Given the description of an element on the screen output the (x, y) to click on. 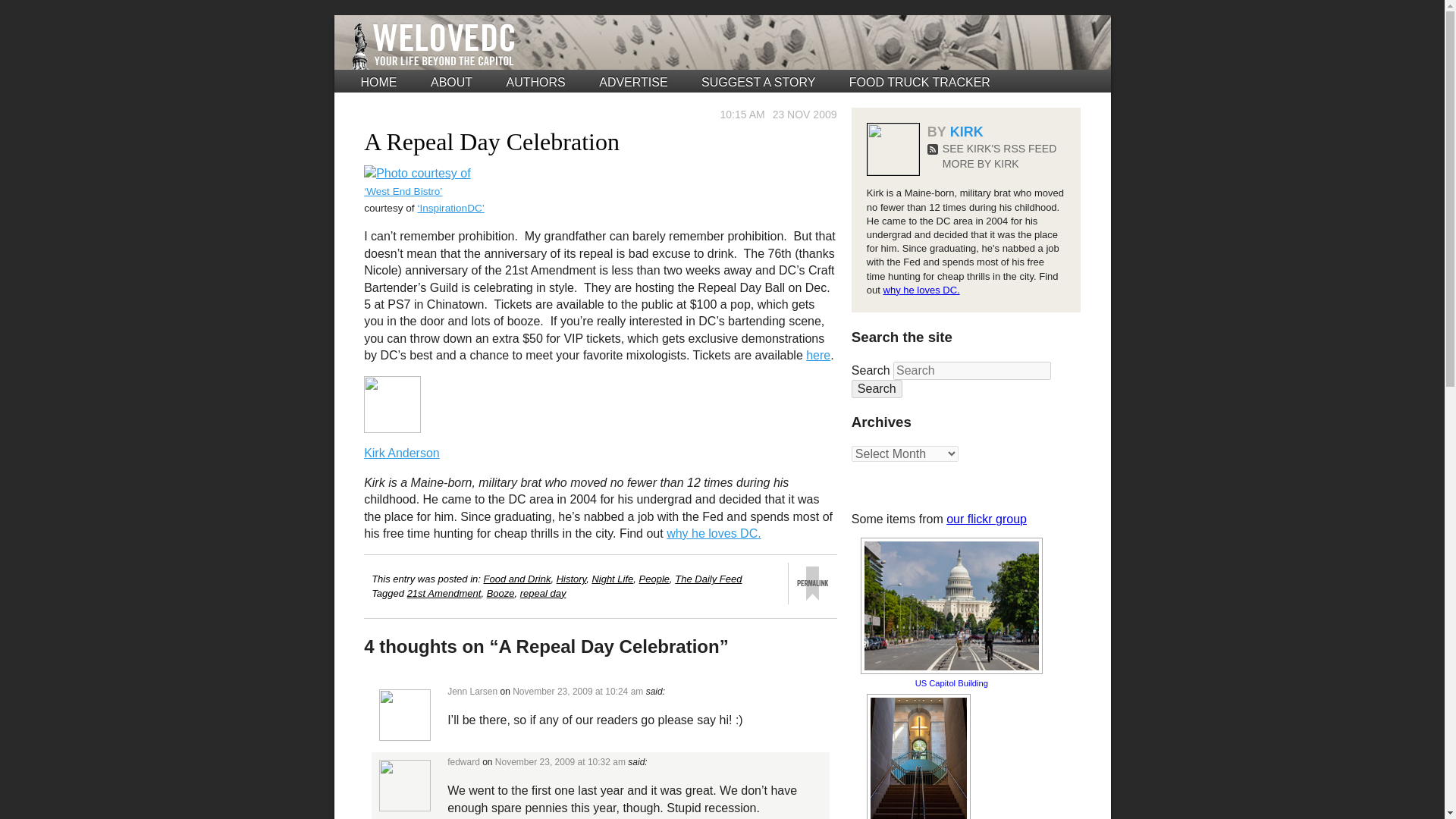
HOME (379, 82)
repeal day (542, 593)
21st Amendment (444, 593)
November 23, 2009 at 10:24 am (577, 691)
The Daily Feed (708, 578)
People (654, 578)
Kirk Anderson (401, 452)
November 23, 2009 at 10:32 am (560, 761)
Food and Drink (517, 578)
Booze (500, 593)
